Given the description of an element on the screen output the (x, y) to click on. 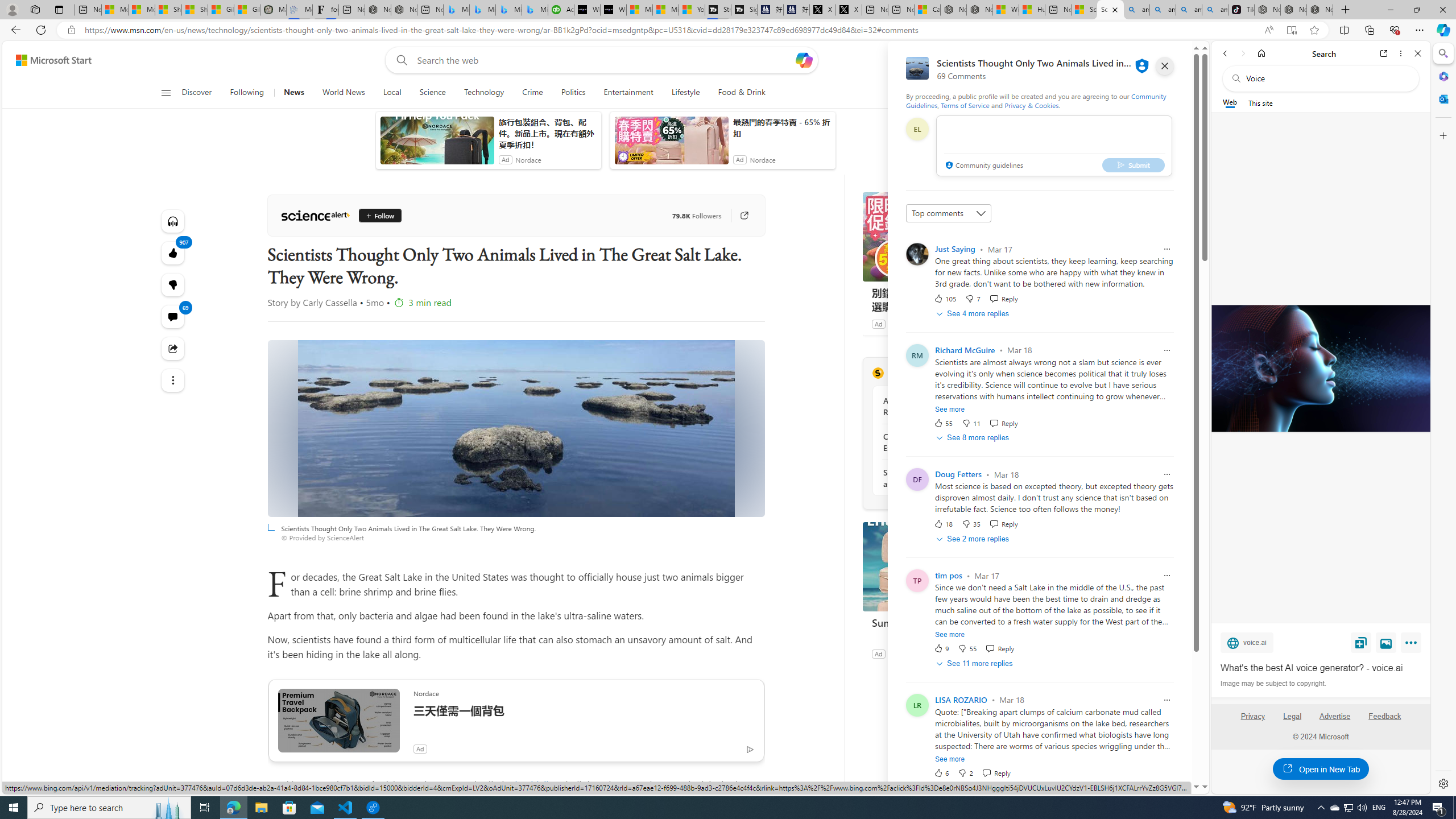
Minimize (1390, 9)
anim-content (671, 144)
What's the best AI voice generator? - voice.ai (1320, 368)
Microsoft Start (665, 9)
Share this story (172, 348)
Copilot (Ctrl+Shift+.) (1442, 29)
Microsoft Start (53, 60)
What's the best AI voice generator? - voice.ai (613, 9)
Side bar (1443, 418)
